Given the description of an element on the screen output the (x, y) to click on. 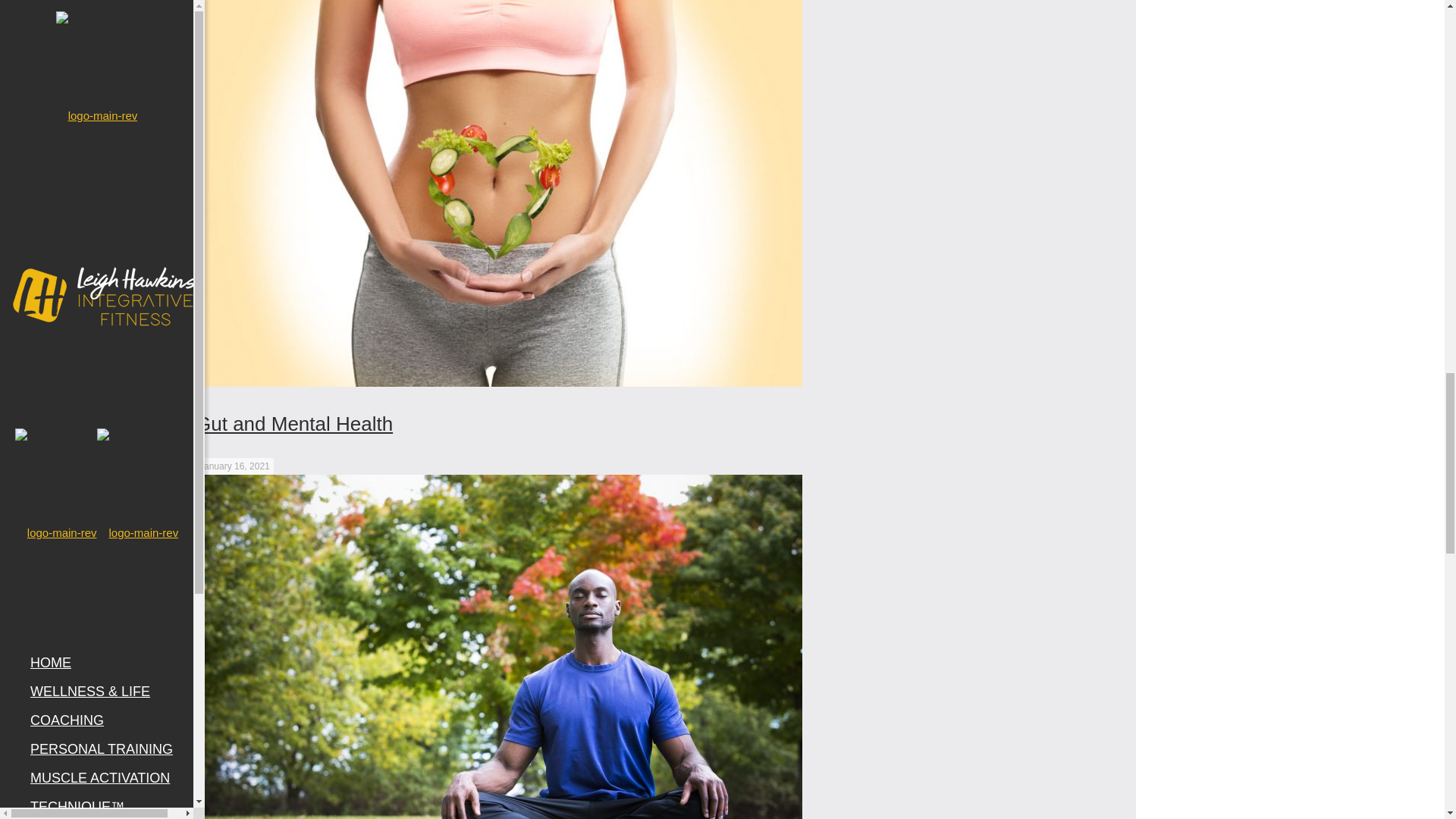
Gut and Mental Health (294, 423)
